Given the description of an element on the screen output the (x, y) to click on. 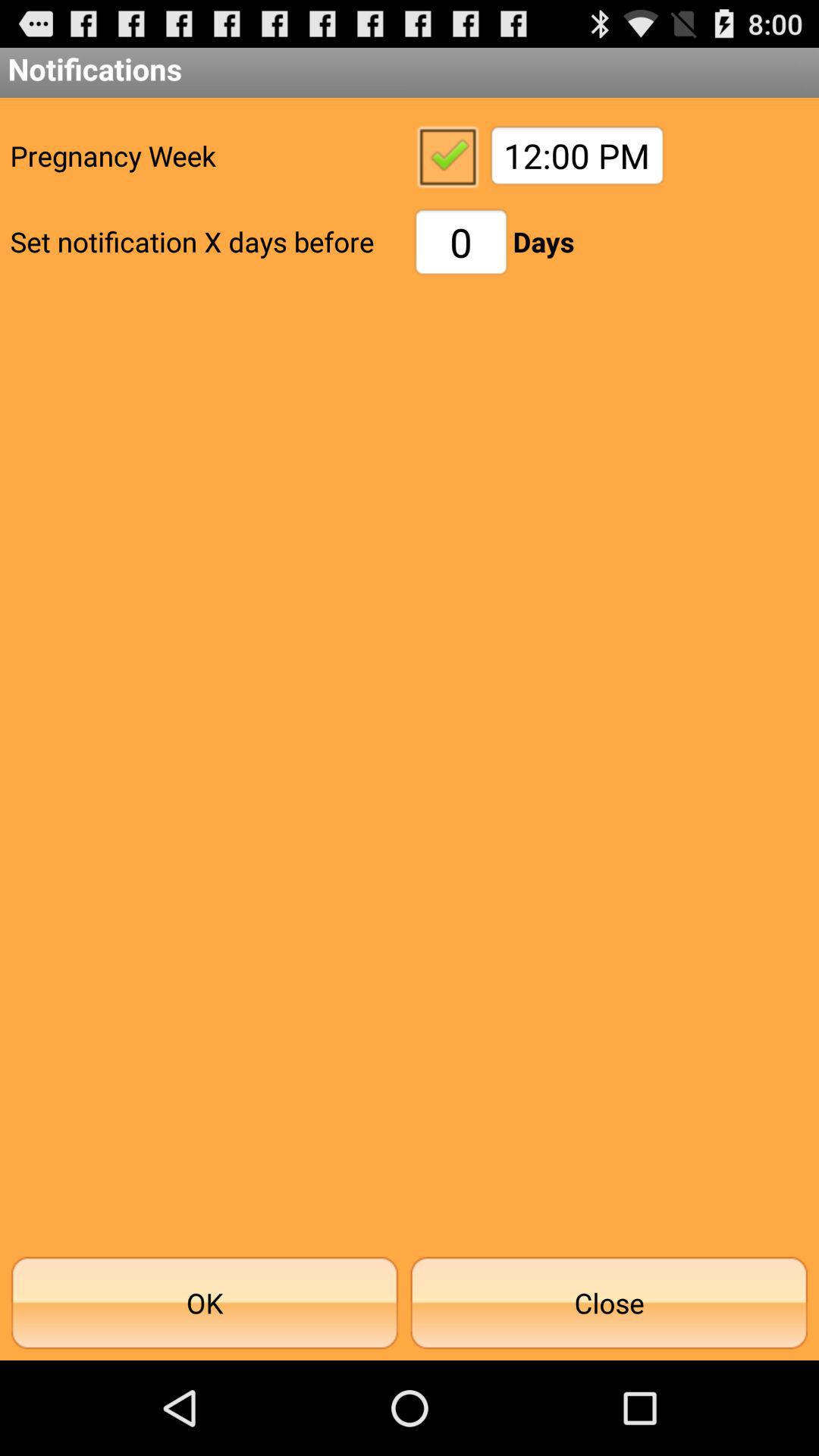
press icon to the left of days icon (461, 241)
